Given the description of an element on the screen output the (x, y) to click on. 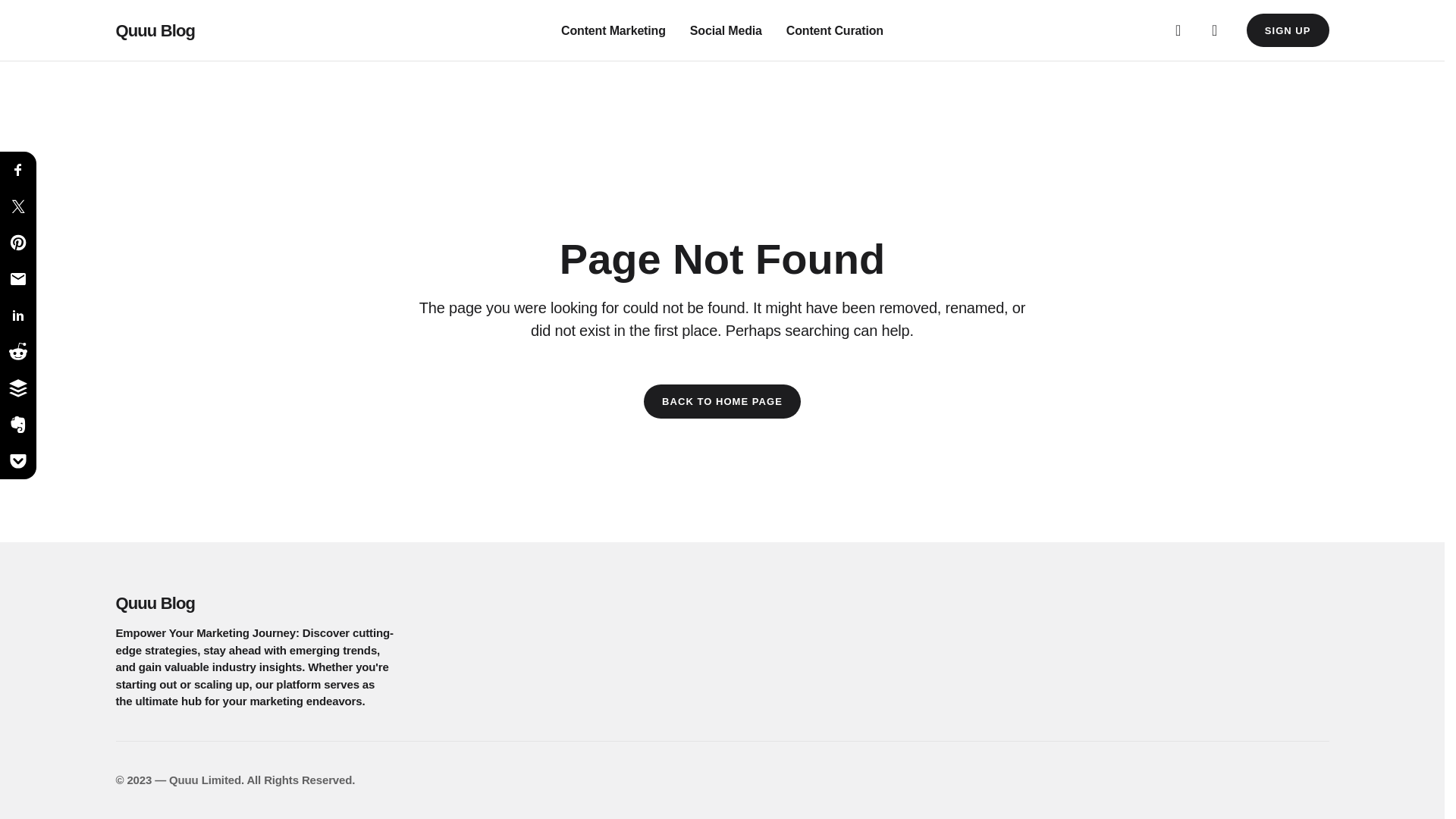
Quuu Blog (305, 602)
Quuu Blog (155, 30)
BACK TO HOME PAGE (721, 401)
Content Marketing (612, 30)
SIGN UP (1287, 30)
Content Curation (834, 30)
Social Media (725, 30)
